Given the description of an element on the screen output the (x, y) to click on. 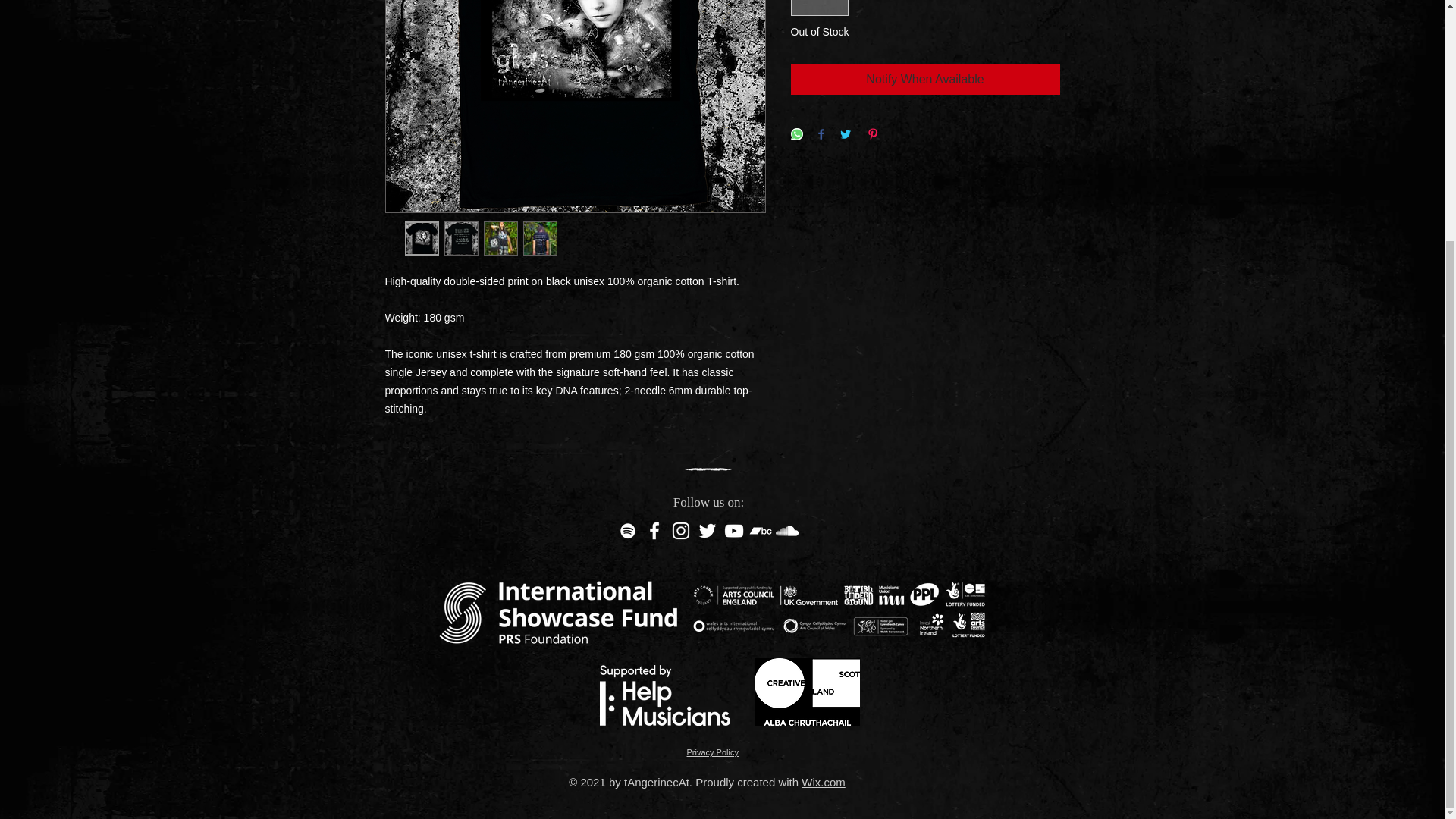
Privacy Policy (712, 751)
Notify When Available (924, 79)
Wix.com (823, 781)
1 (818, 8)
